Given the description of an element on the screen output the (x, y) to click on. 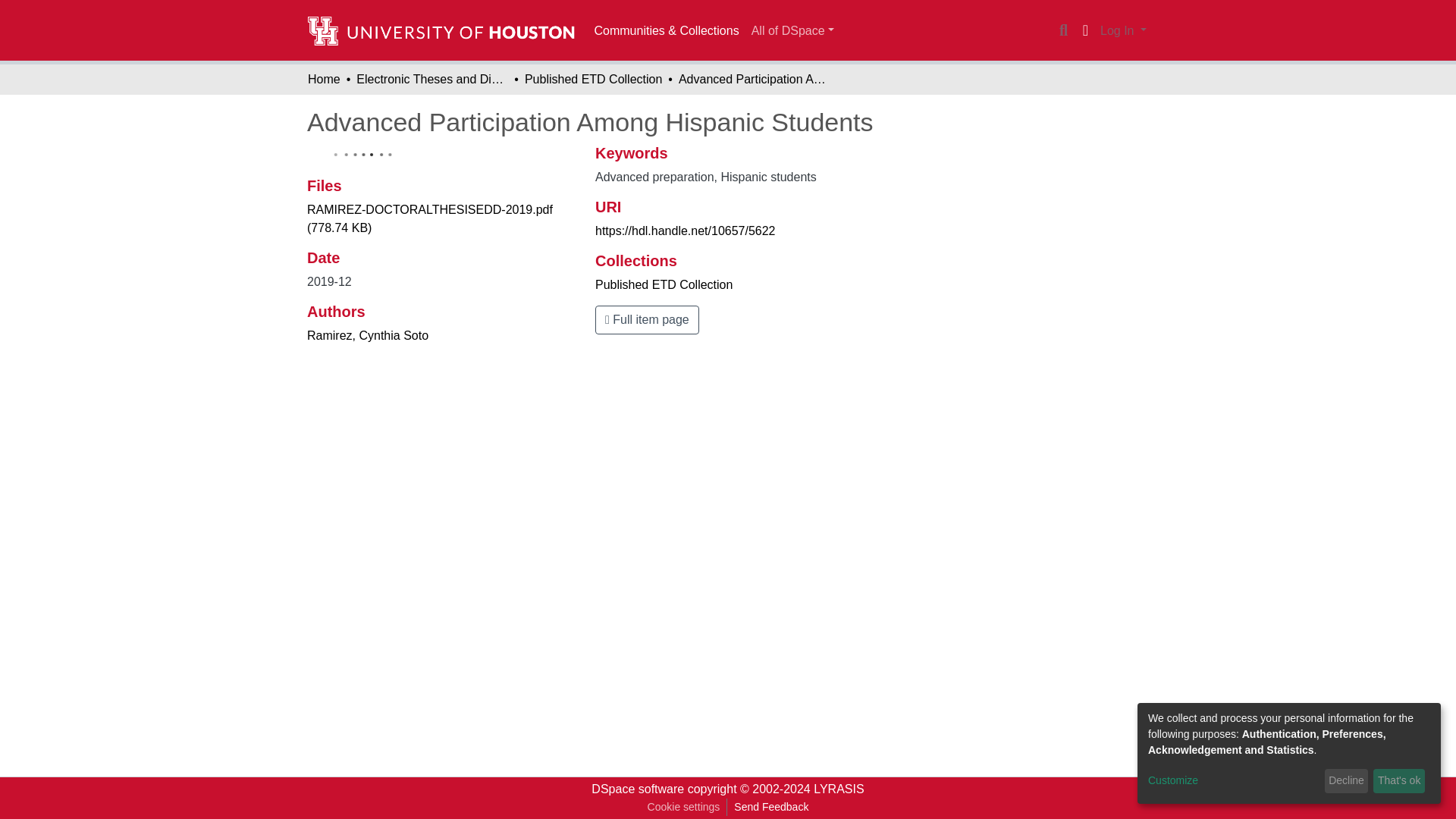
All of DSpace (792, 30)
Published ETD Collection (593, 79)
Language switch (1084, 30)
Home (323, 79)
Ramirez, Cynthia Soto (367, 335)
Customize (1233, 780)
DSpace software (637, 788)
Published ETD Collection (663, 284)
Cookie settings (683, 806)
LYRASIS (838, 788)
